Given the description of an element on the screen output the (x, y) to click on. 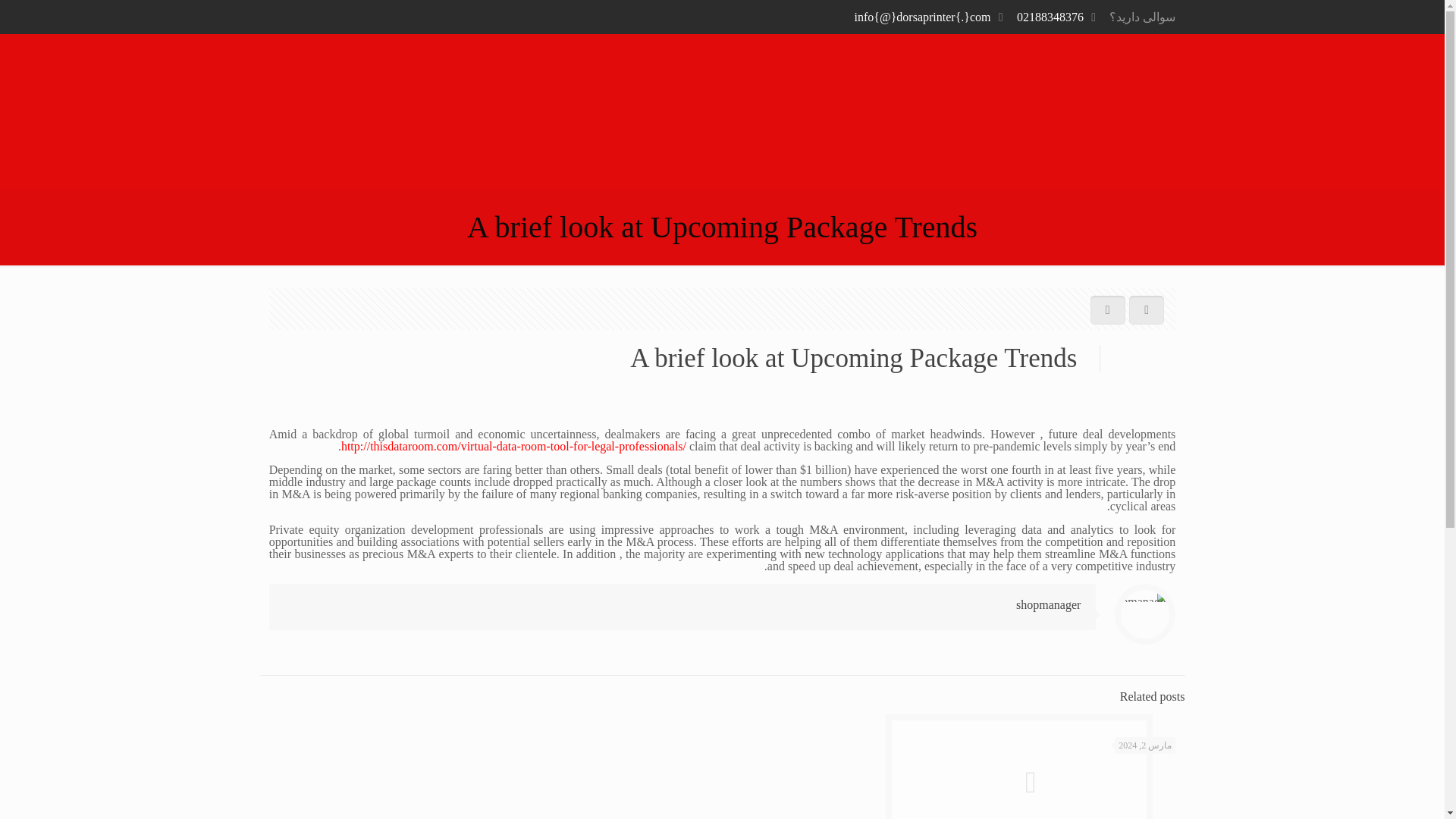
shopmanager (1048, 604)
02188348376 (1049, 16)
